Given the description of an element on the screen output the (x, y) to click on. 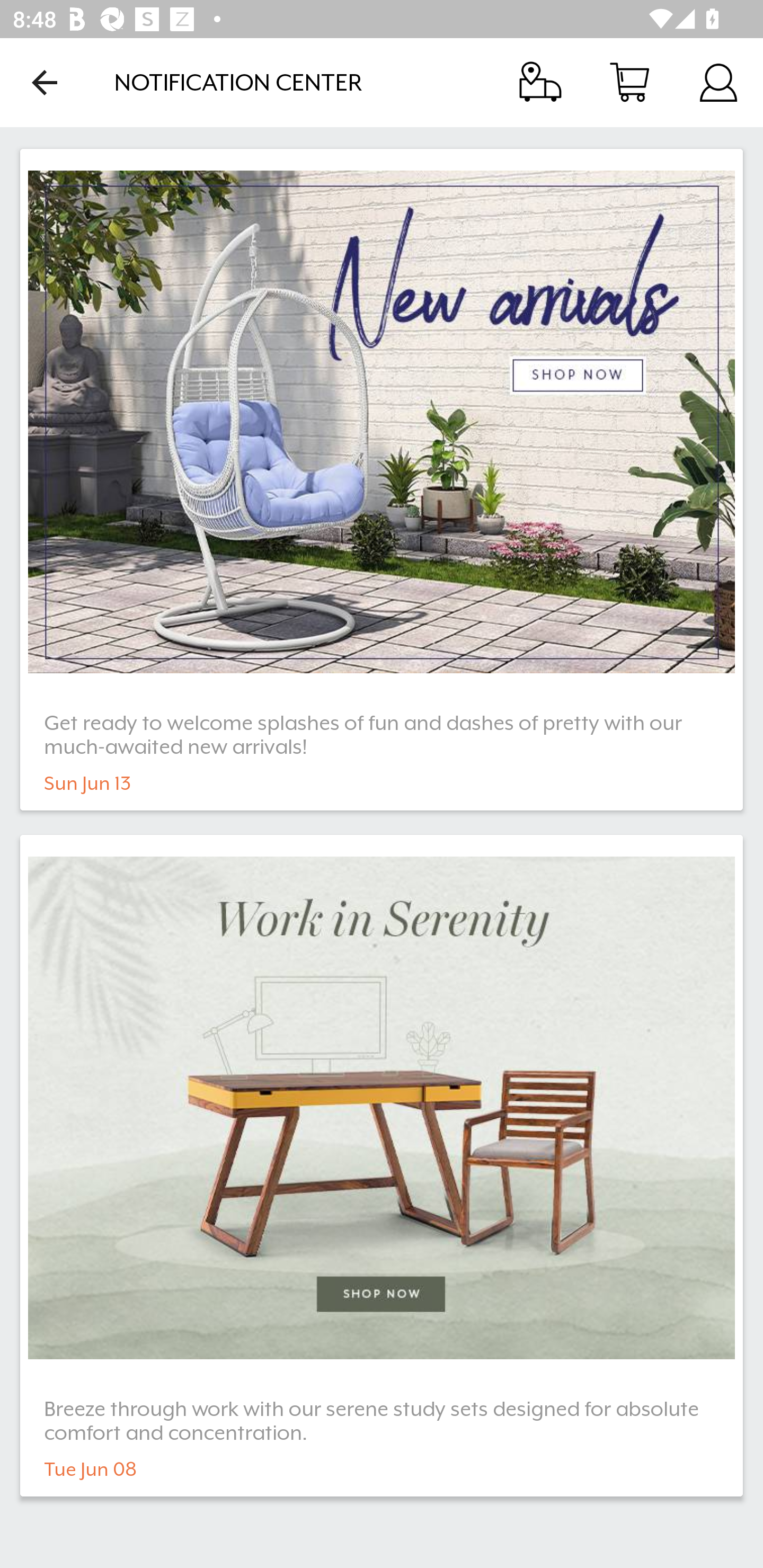
Navigate up (44, 82)
Track Order (540, 81)
Cart (629, 81)
Account Details (718, 81)
